Given the description of an element on the screen output the (x, y) to click on. 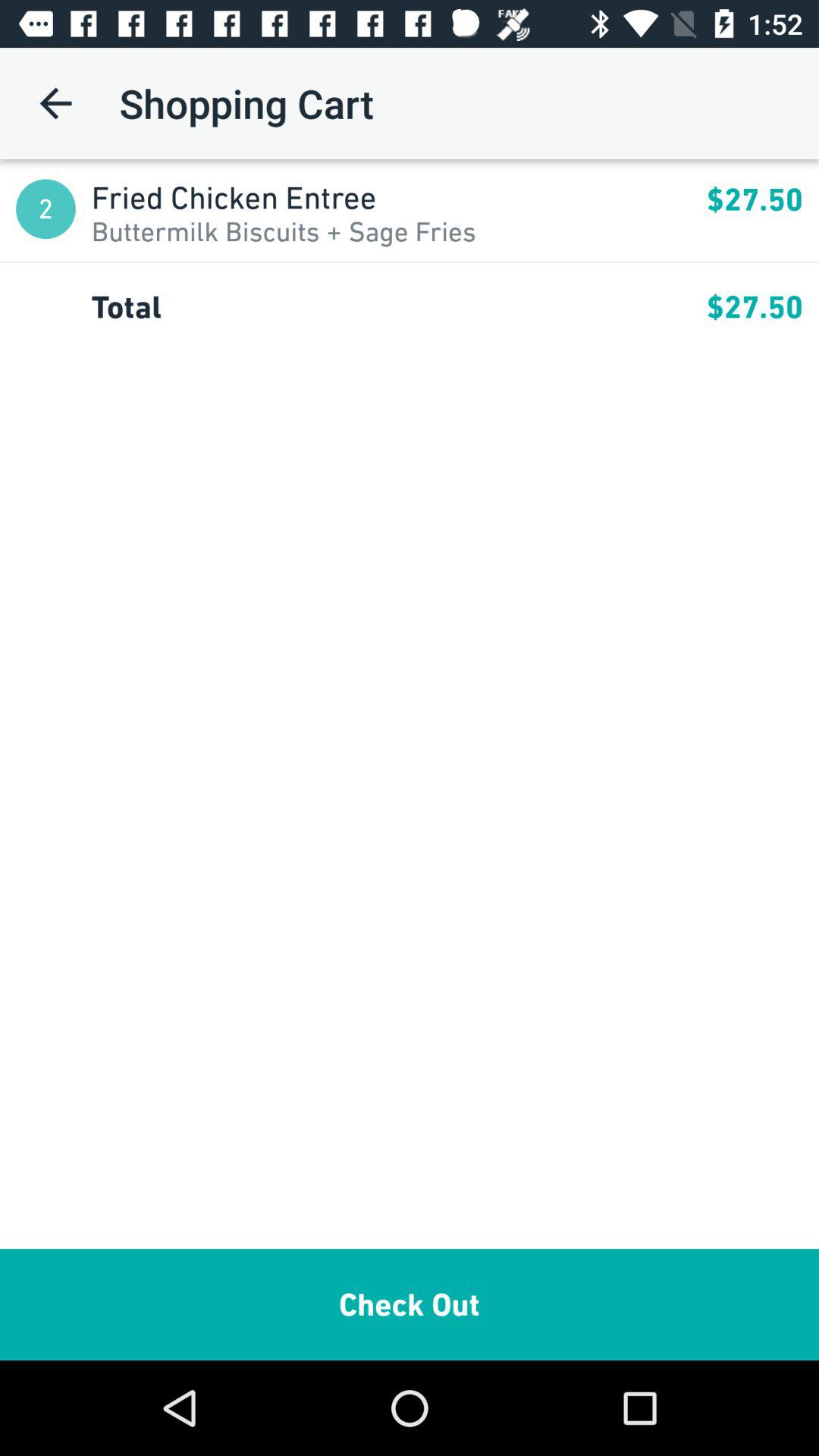
click total app (398, 306)
